Given the description of an element on the screen output the (x, y) to click on. 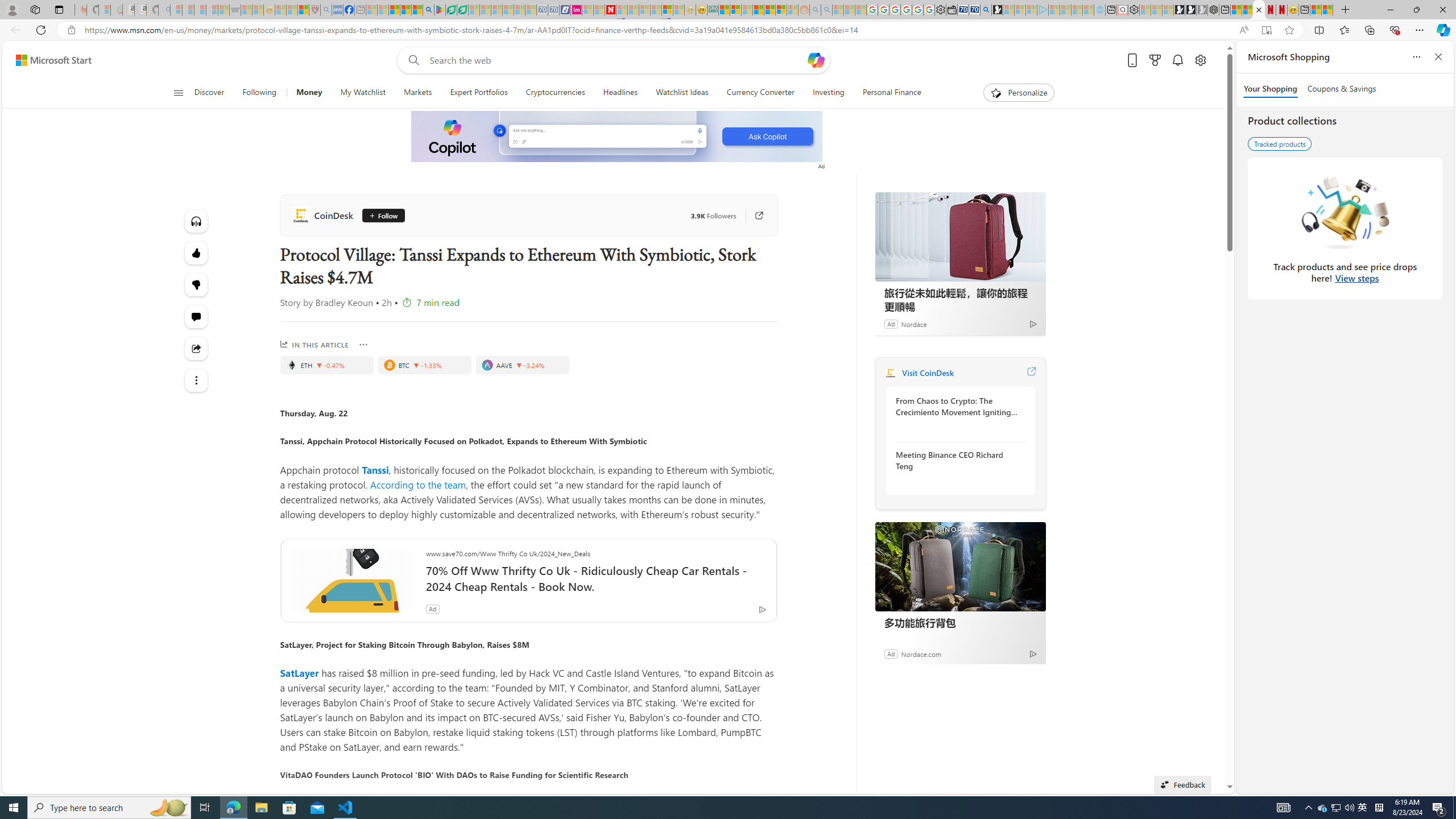
More Options (363, 343)
Share this story (196, 348)
Markets (417, 92)
Jobs - lastminute.com Investor Portal (576, 9)
Bitcoin (388, 365)
